Given the description of an element on the screen output the (x, y) to click on. 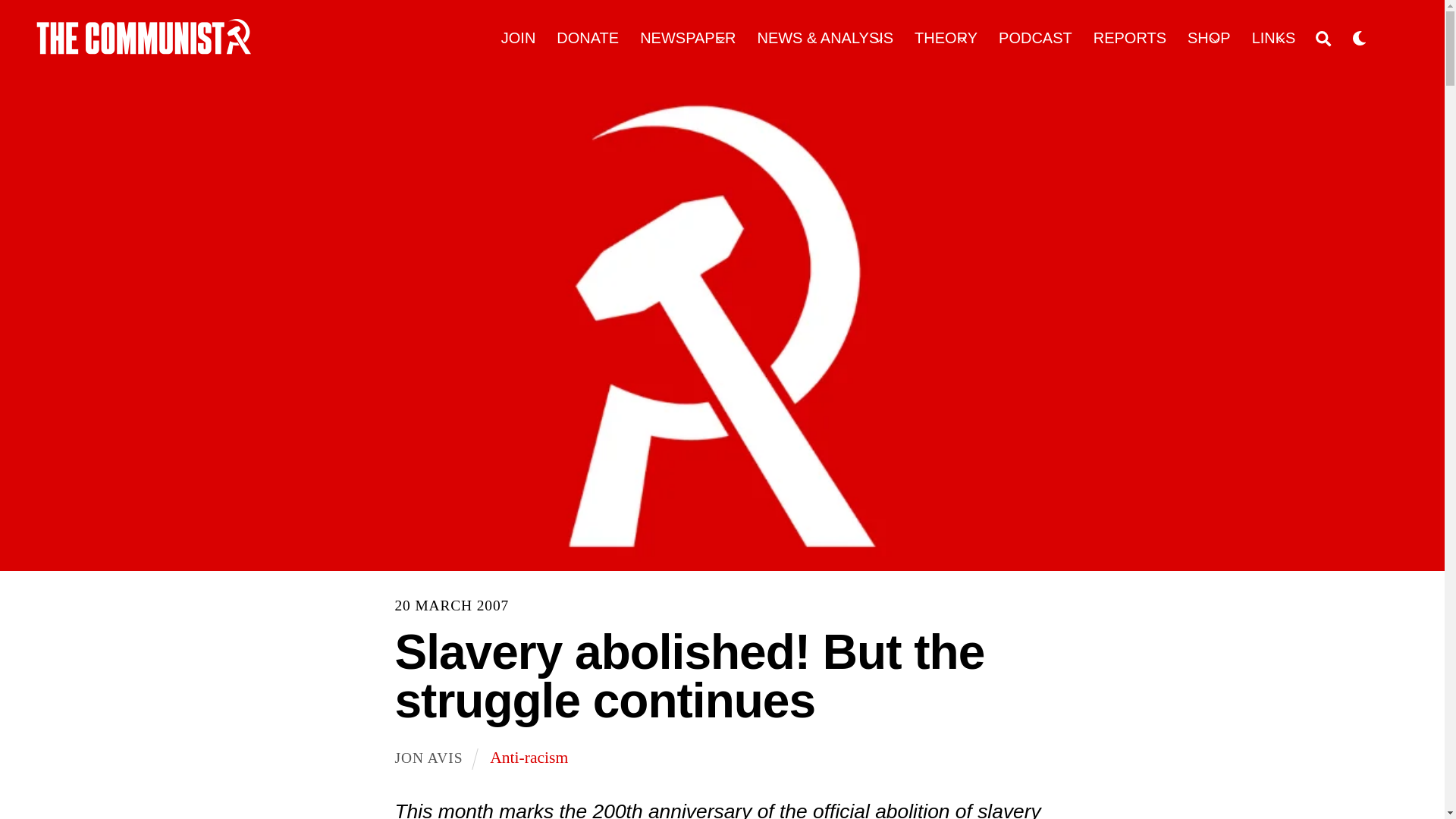
The Communist (143, 37)
The Communist (143, 49)
NEWSPAPER (688, 37)
DONATE (587, 37)
